Given the description of an element on the screen output the (x, y) to click on. 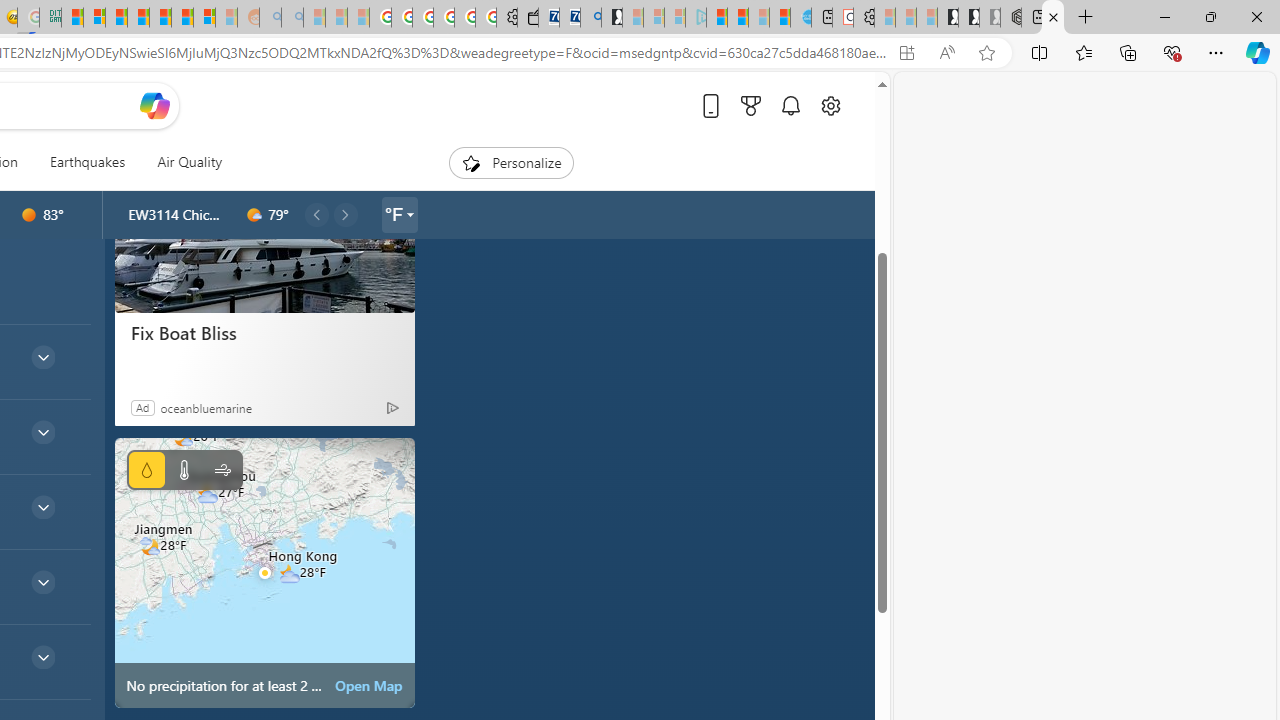
Fix Boat Bliss (263, 234)
Student Loan Update: Forgiveness Program Ends This Month (138, 17)
